Given the description of an element on the screen output the (x, y) to click on. 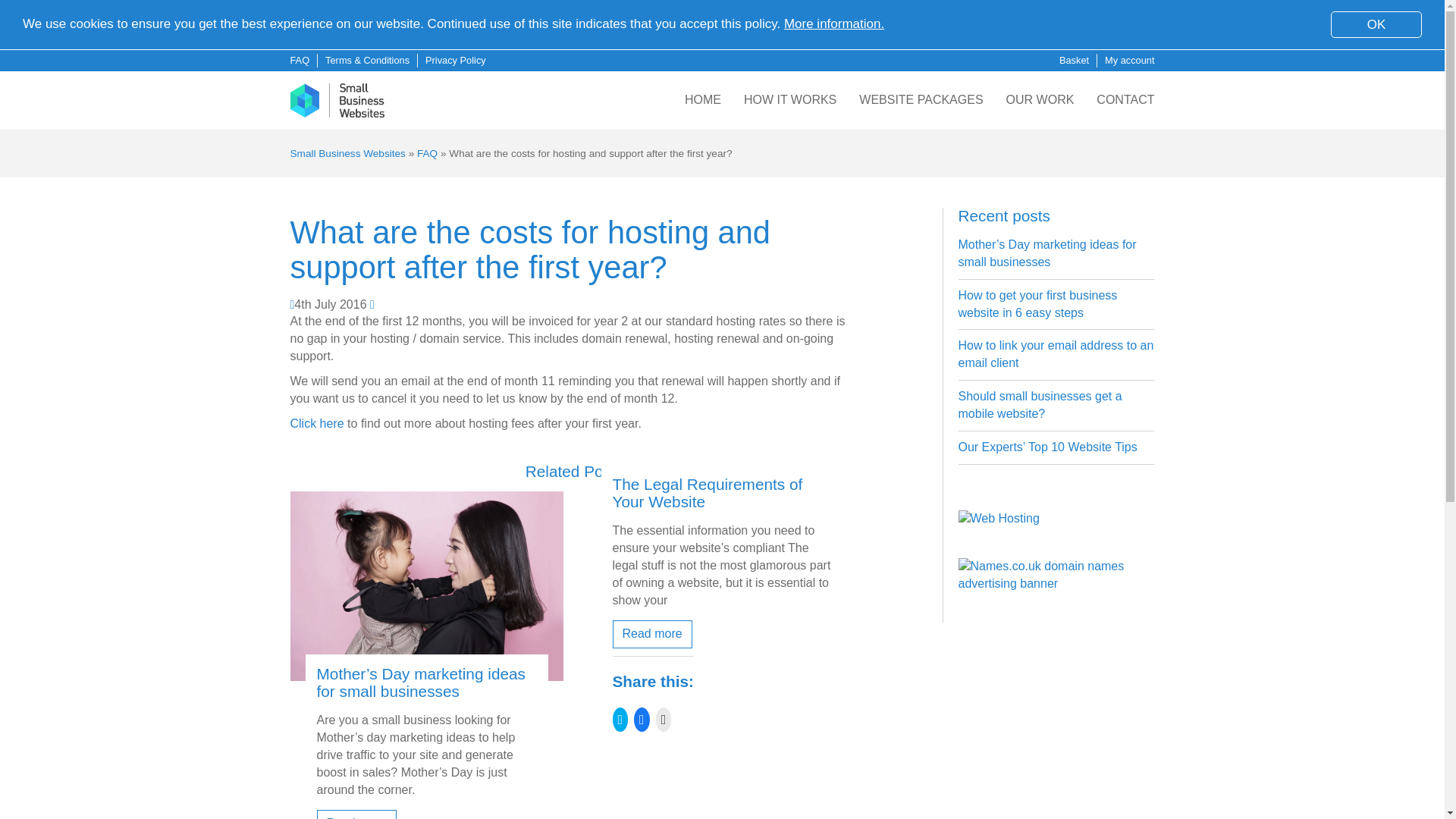
HOME (702, 98)
FAQ (298, 36)
Privacy Policy (455, 45)
Click here (316, 422)
Small Business Websites (346, 153)
HOW IT WORKS (789, 99)
CONTACT (1125, 101)
Read more (652, 633)
OUR WORK (1040, 100)
WEBSITE PACKAGES (920, 100)
My account (1129, 50)
Basket (1074, 48)
How to link your email address to an email client (1056, 354)
The Legal Requirements of Your Website (707, 492)
FAQ (427, 153)
